Given the description of an element on the screen output the (x, y) to click on. 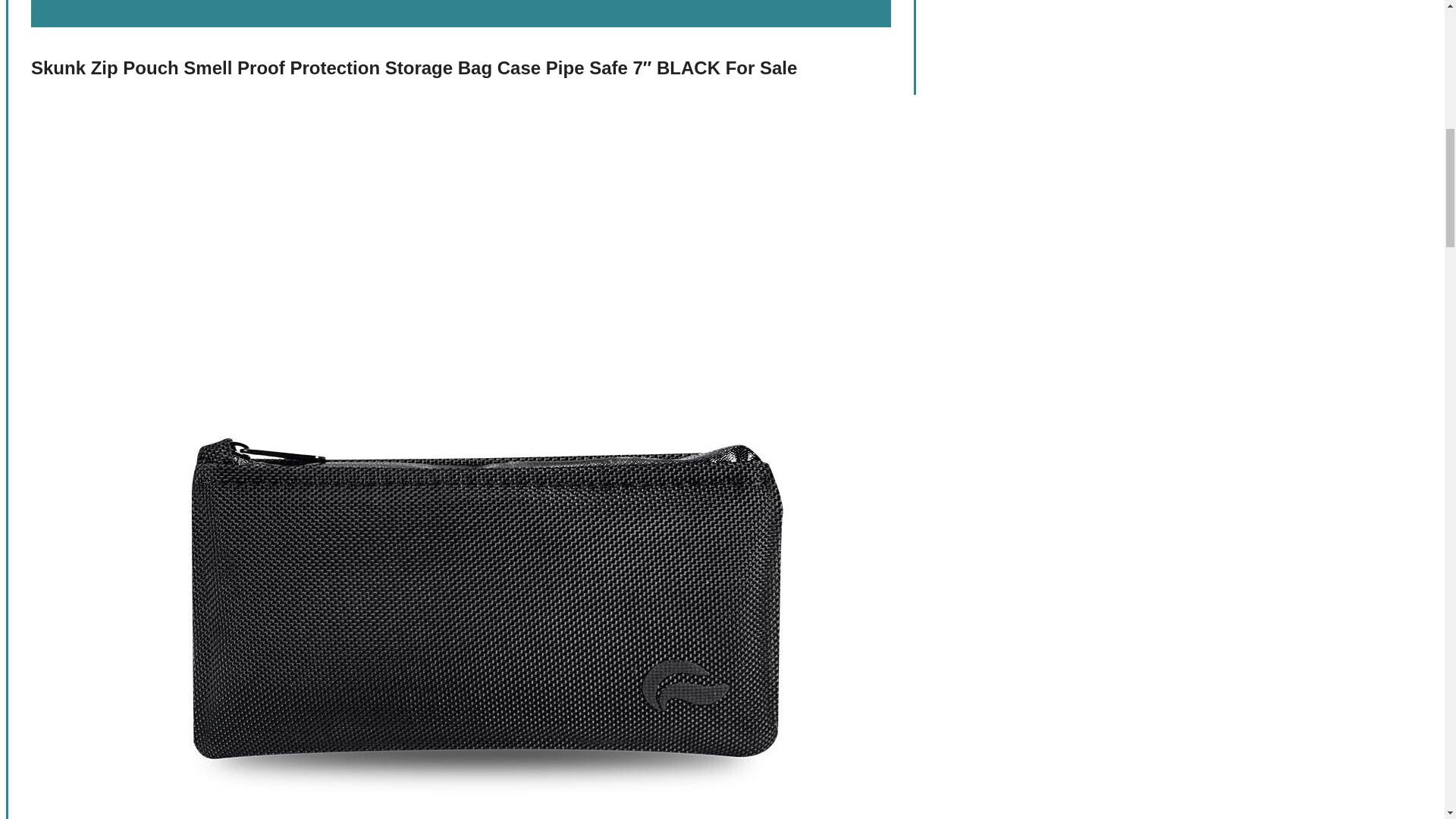
Return to Content (78, 17)
